Given the description of an element on the screen output the (x, y) to click on. 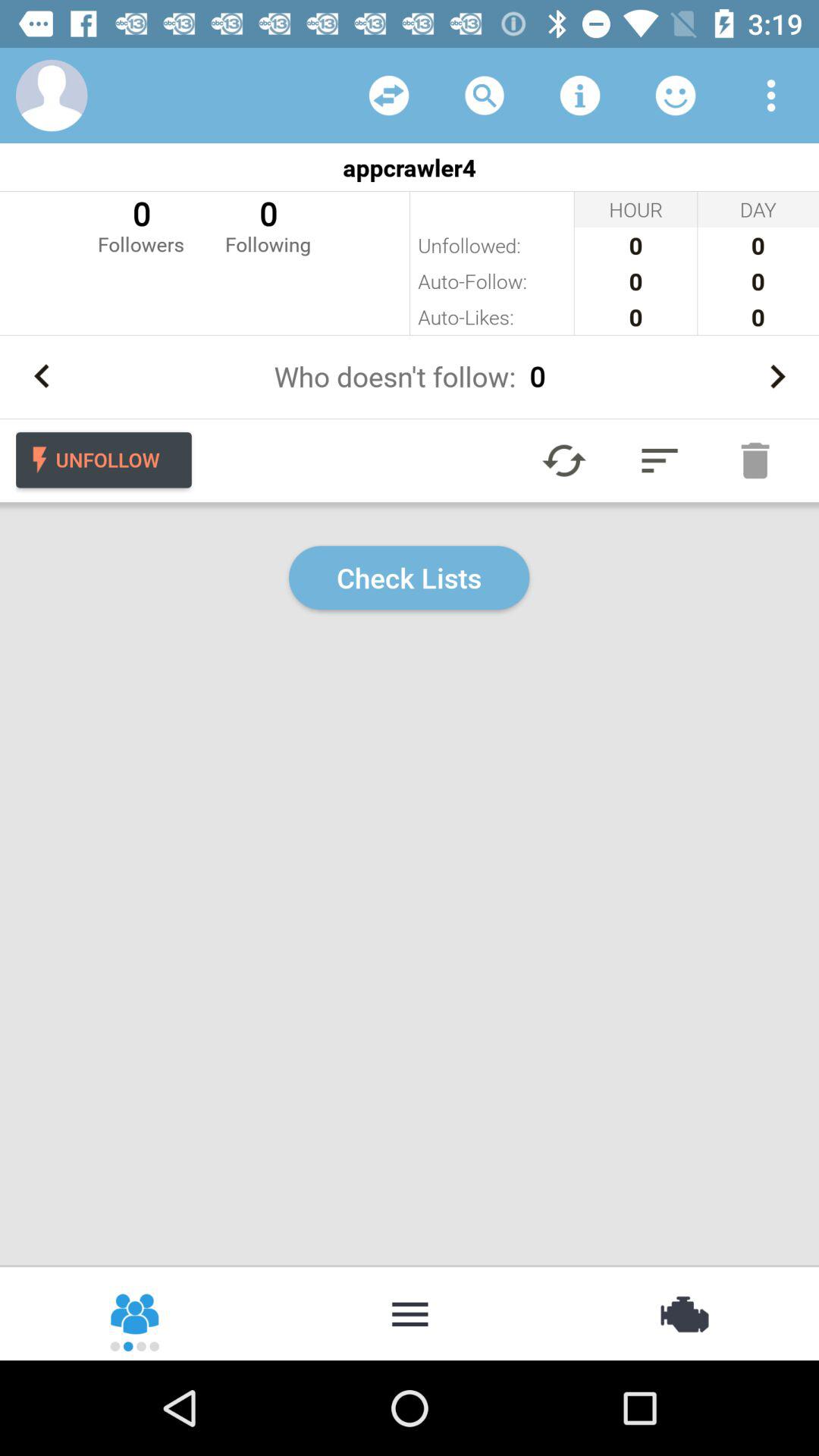
the icon represented the delete if we necessary data or other items (755, 460)
